Given the description of an element on the screen output the (x, y) to click on. 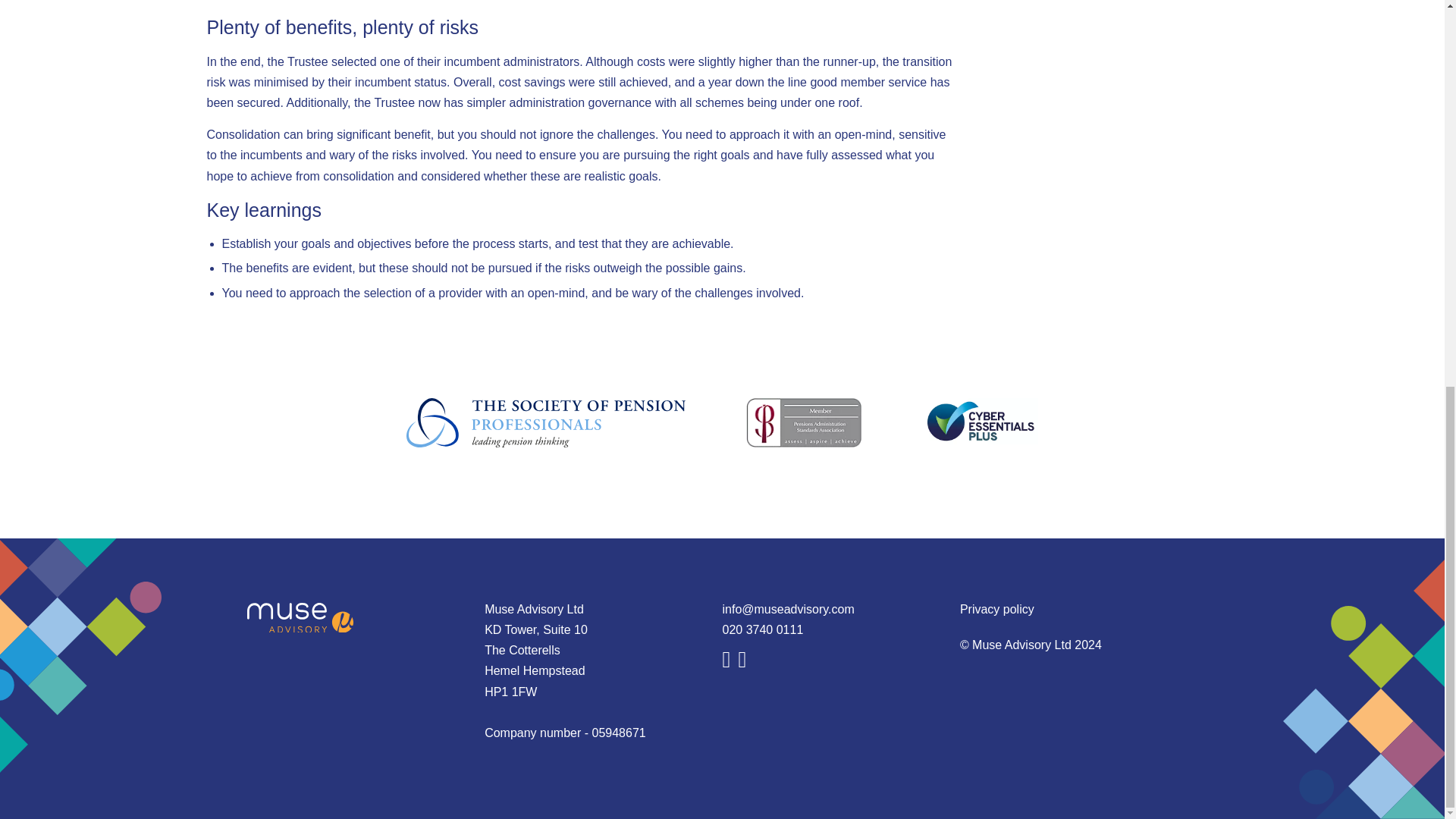
Privacy policy (996, 608)
Muse Advisory (300, 617)
020 3740 0111 (762, 629)
